Given the description of an element on the screen output the (x, y) to click on. 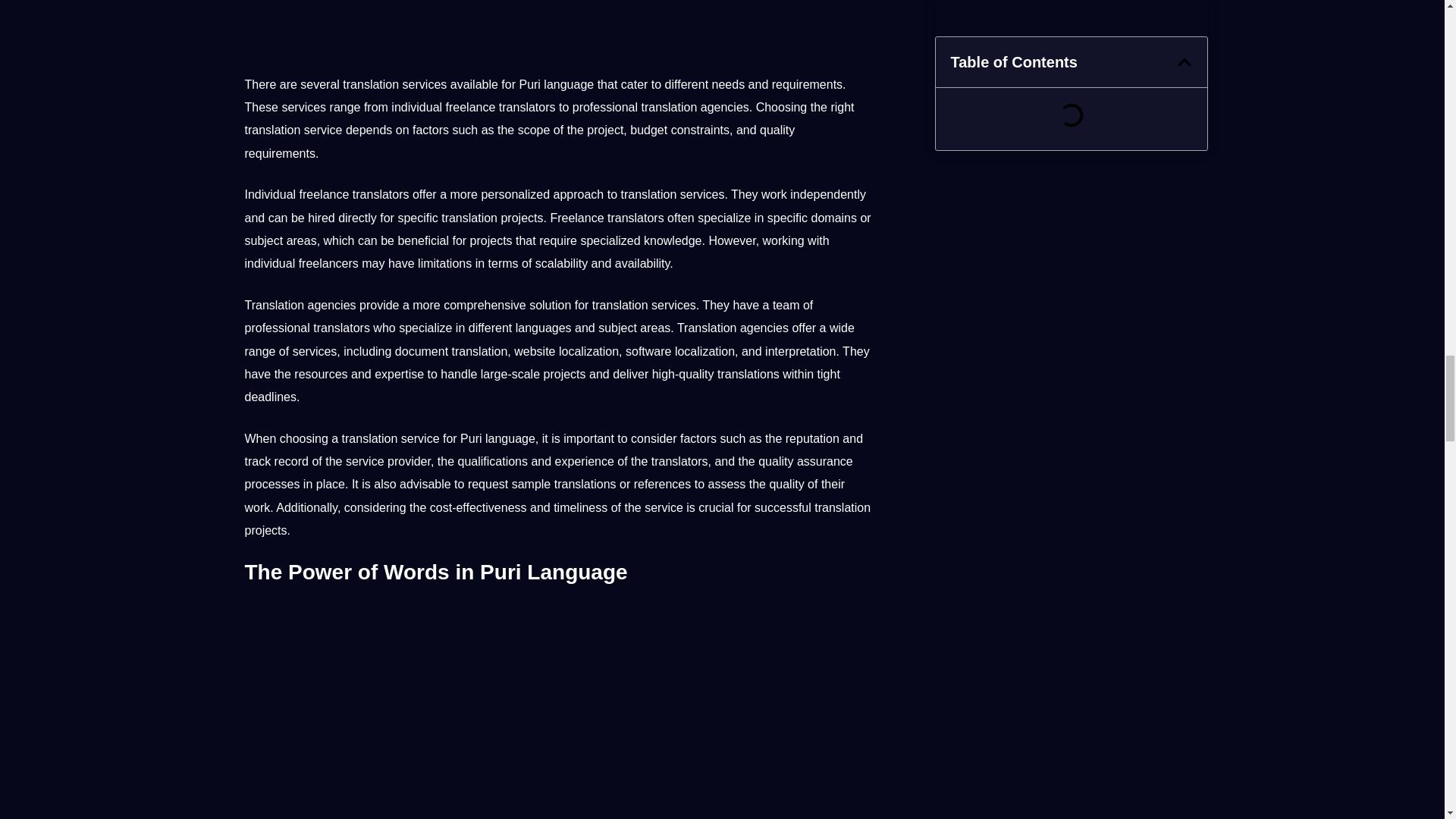
Puri language (558, 27)
